Given the description of an element on the screen output the (x, y) to click on. 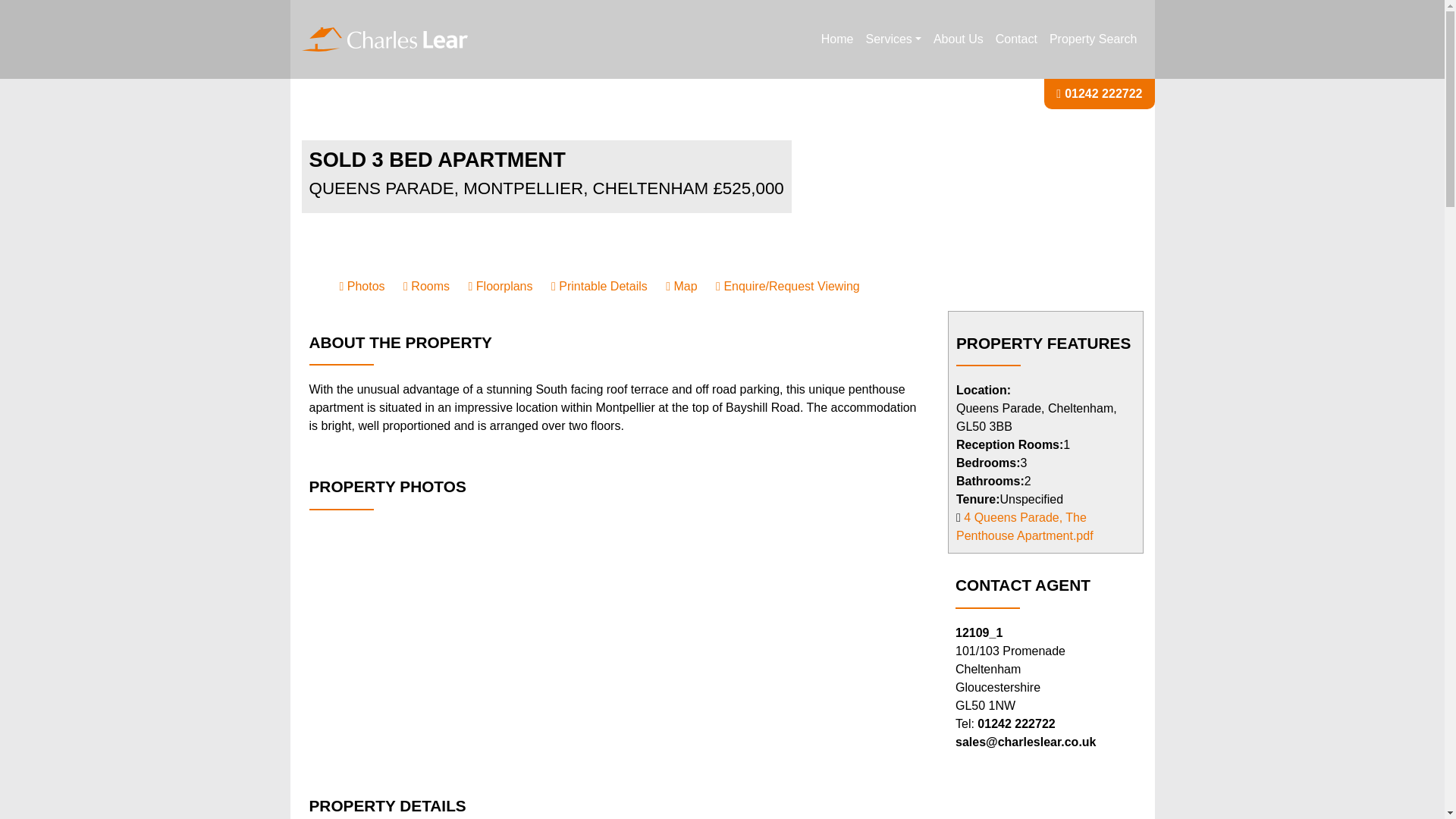
Property Search (1092, 39)
Map (681, 286)
01242 222722 (1102, 93)
About Us (958, 39)
Floorplans (500, 286)
Photos (362, 286)
Home (837, 39)
Printable Details (599, 286)
4 Queens Parade, The Penthouse Apartment.pdf (1024, 526)
Services (893, 39)
Printable Details (599, 286)
Enquire (788, 286)
Map (681, 286)
Rooms (426, 286)
Rooms (426, 286)
